Given the description of an element on the screen output the (x, y) to click on. 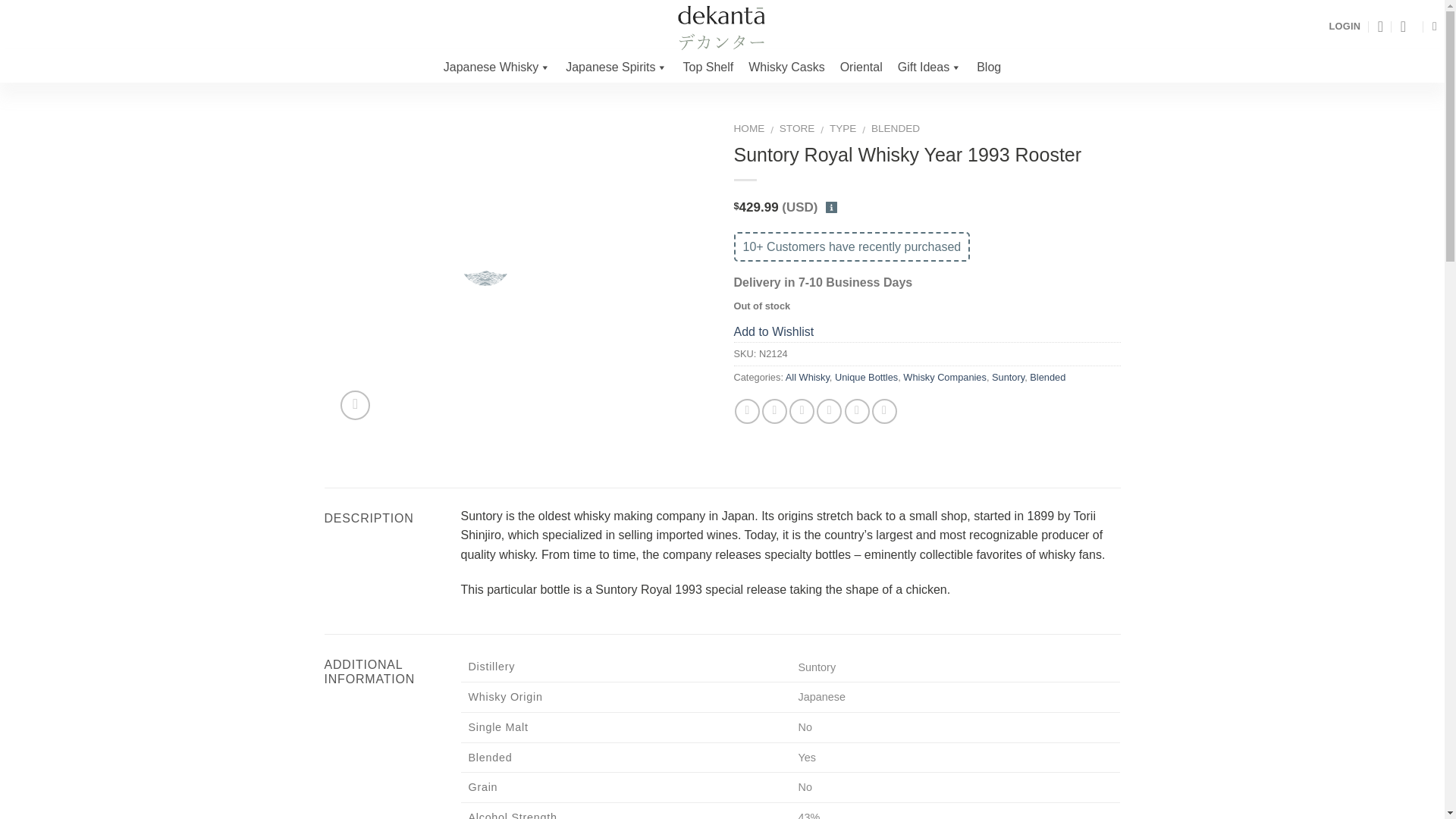
Suntory Royal Whisky Year 1993 Rooster (485, 273)
Email to a Friend (801, 411)
Japanese Whisky (496, 67)
LOGIN (1343, 26)
Share on Facebook (747, 411)
Share on Twitter (774, 411)
Share on Tumblr (884, 411)
Pin on Pinterest (828, 411)
Zoom (354, 405)
